Given the description of an element on the screen output the (x, y) to click on. 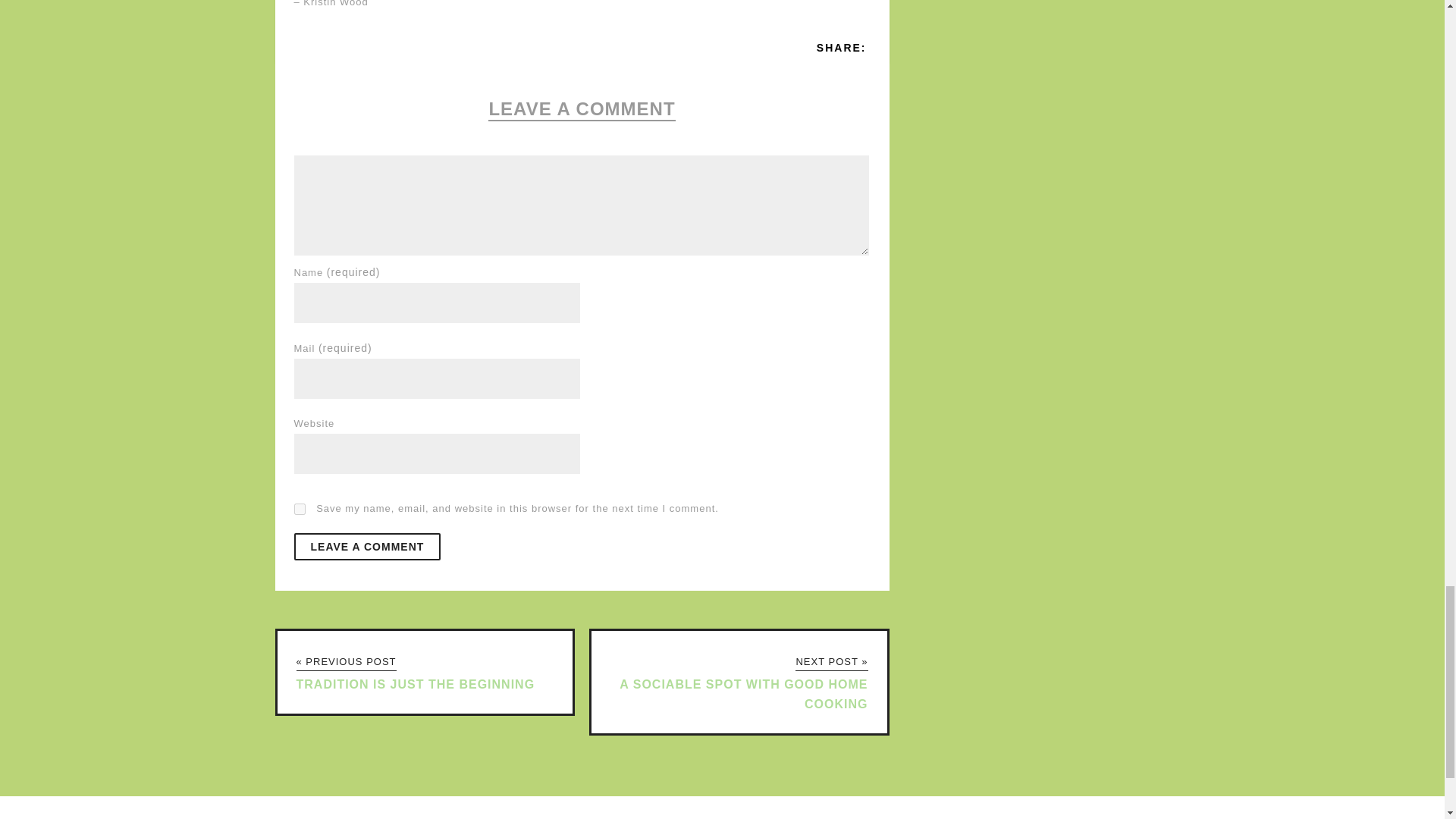
Leave a Comment (367, 546)
yes (299, 509)
